Given the description of an element on the screen output the (x, y) to click on. 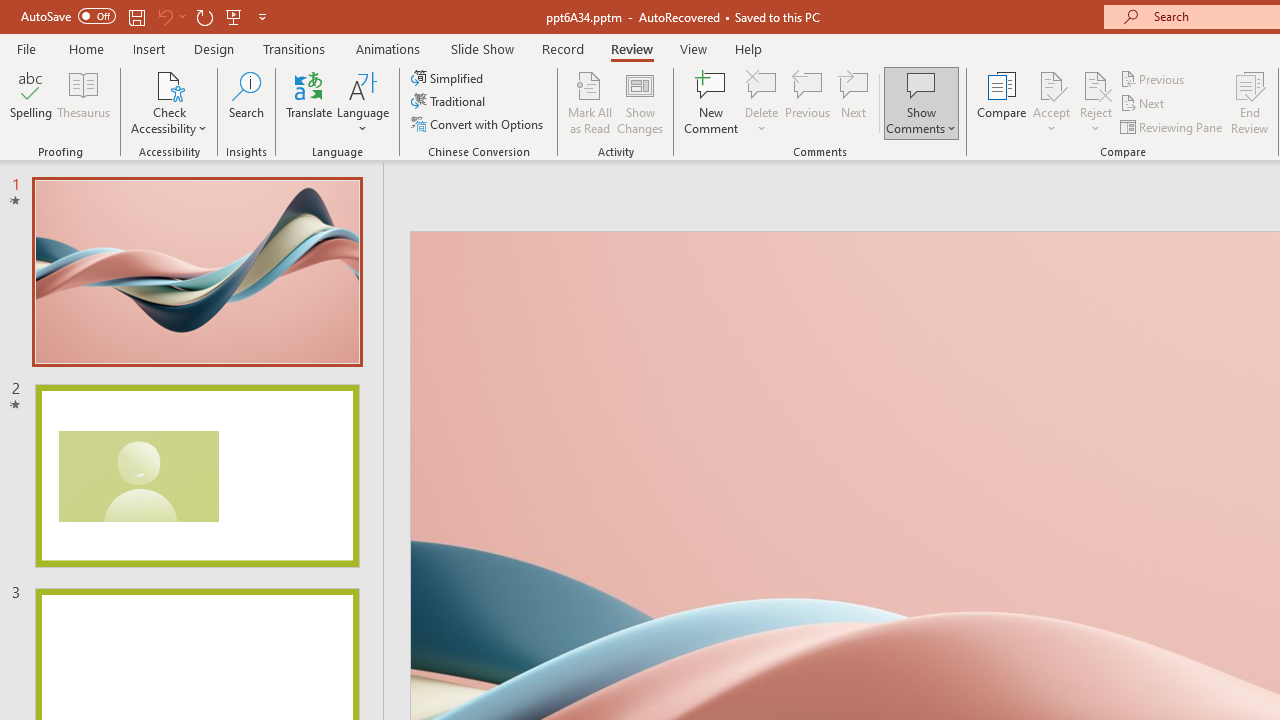
Next (1144, 103)
